Given the description of an element on the screen output the (x, y) to click on. 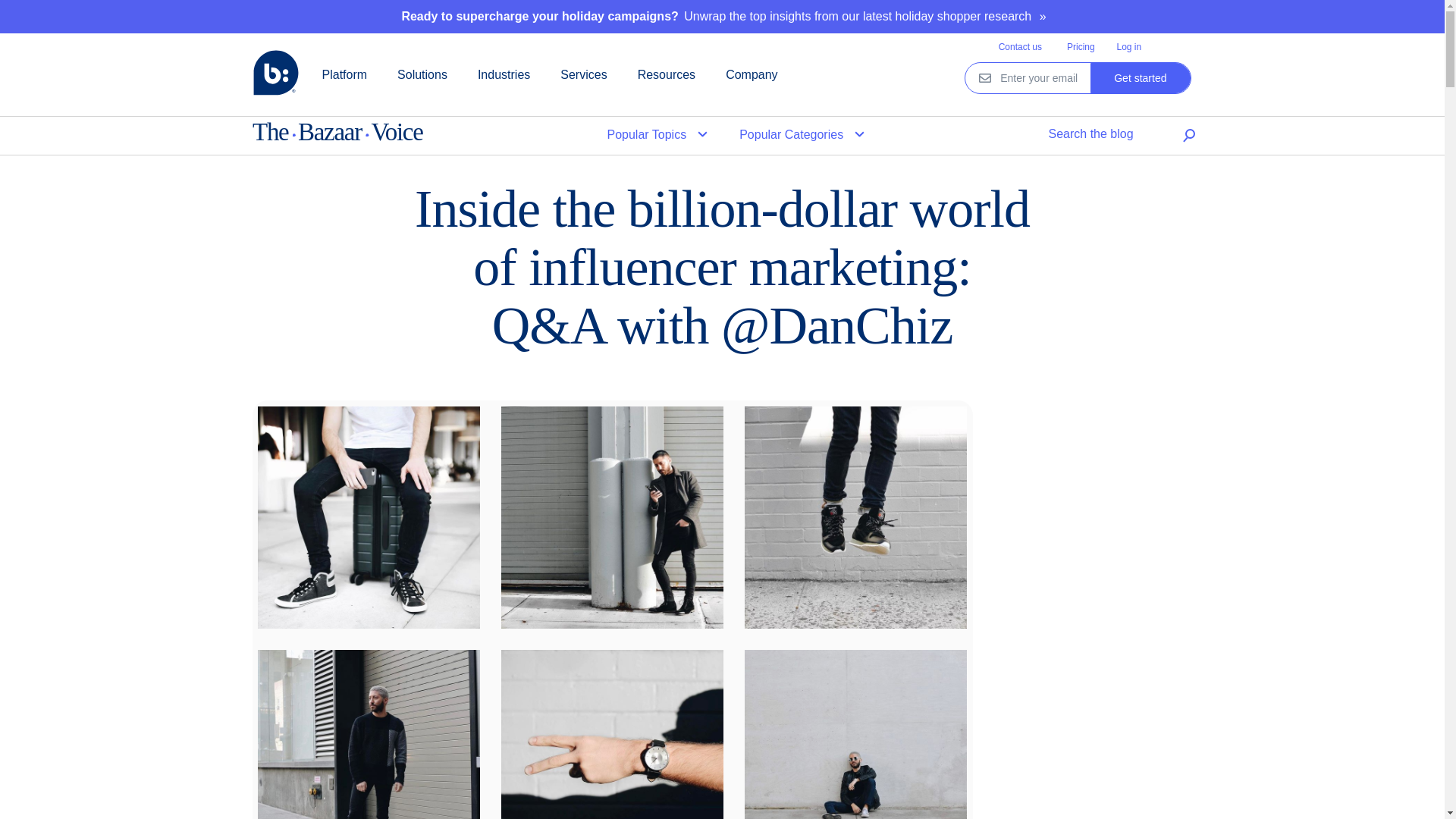
Solutions (421, 74)
Platform (343, 74)
